Given the description of an element on the screen output the (x, y) to click on. 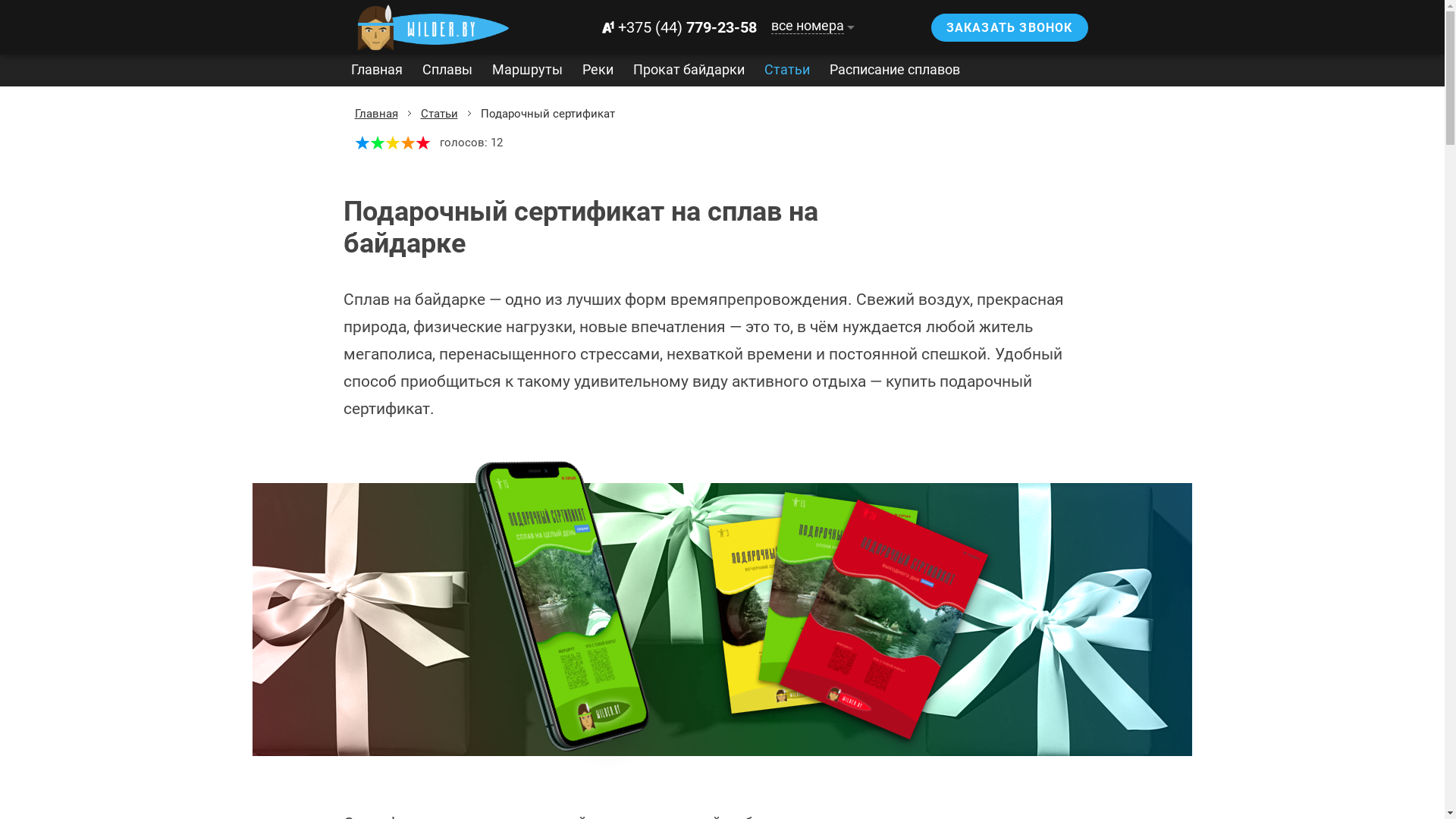
+375 (44) 779-23-58 Element type: text (675, 27)
